Given the description of an element on the screen output the (x, y) to click on. 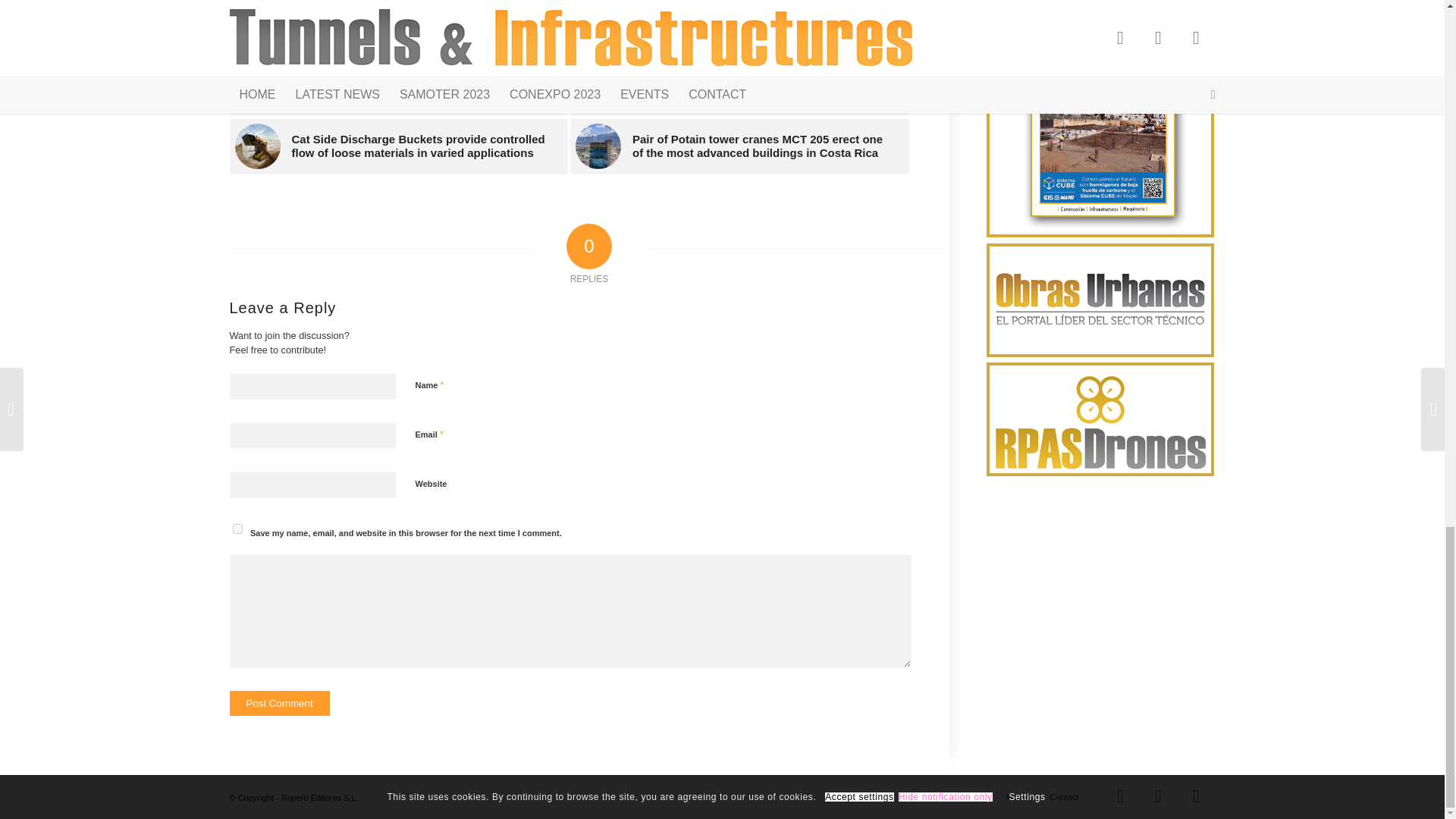
1 (423, 560)
Post Comment (278, 703)
yes (236, 528)
